Given the description of an element on the screen output the (x, y) to click on. 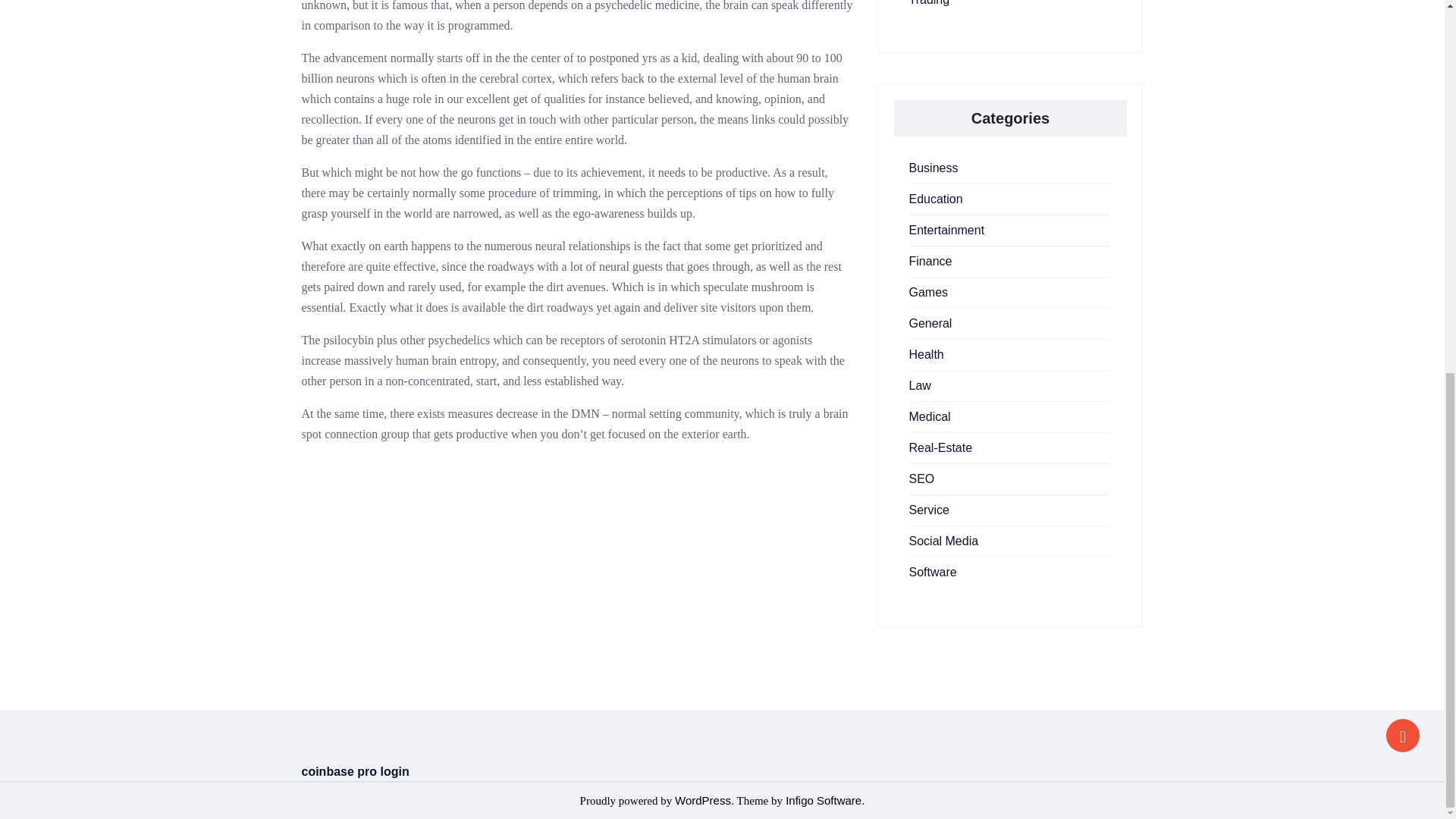
coinbase pro login (355, 771)
Finance (930, 260)
Entertainment (946, 229)
Games (927, 291)
Business (933, 167)
Health (925, 354)
Education (935, 198)
WordPress. (704, 799)
Software (932, 571)
General (930, 323)
